Given the description of an element on the screen output the (x, y) to click on. 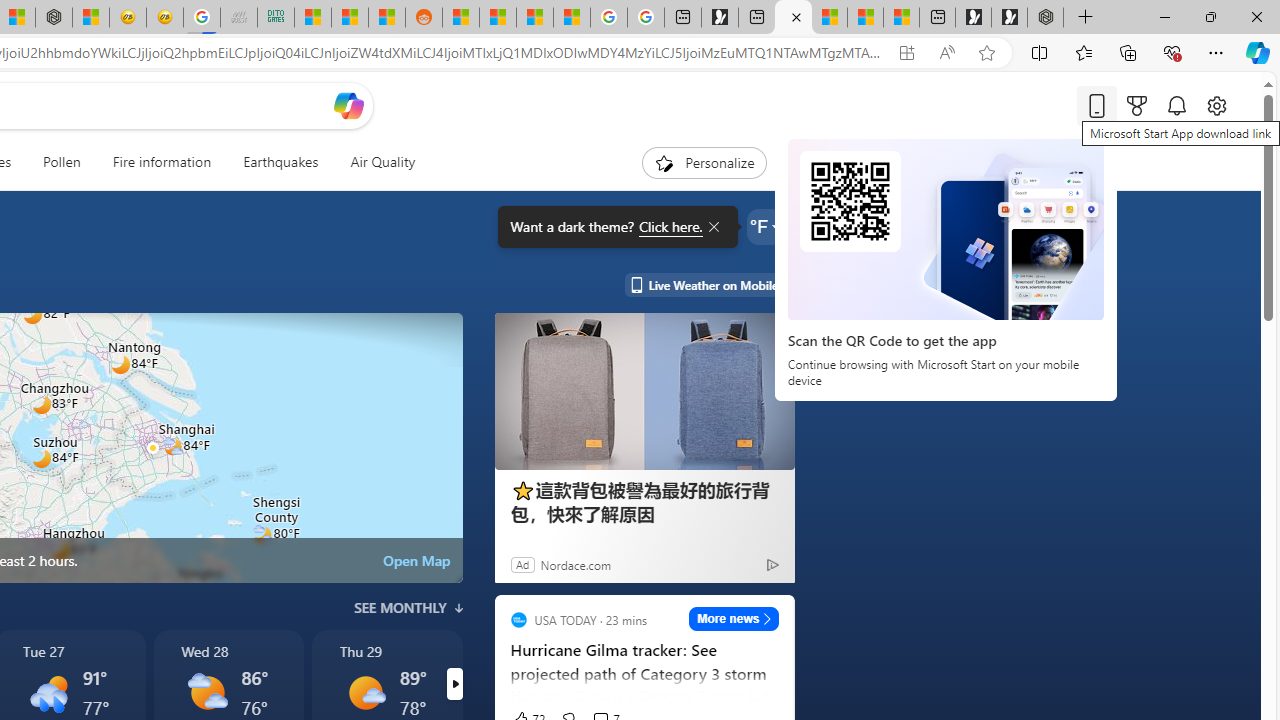
Air Quality (382, 162)
Earthquakes (280, 162)
Mostly sunny (365, 692)
These 3 Stocks Pay You More Than 5% to Own Them (901, 17)
Open Map (416, 560)
